Given the description of an element on the screen output the (x, y) to click on. 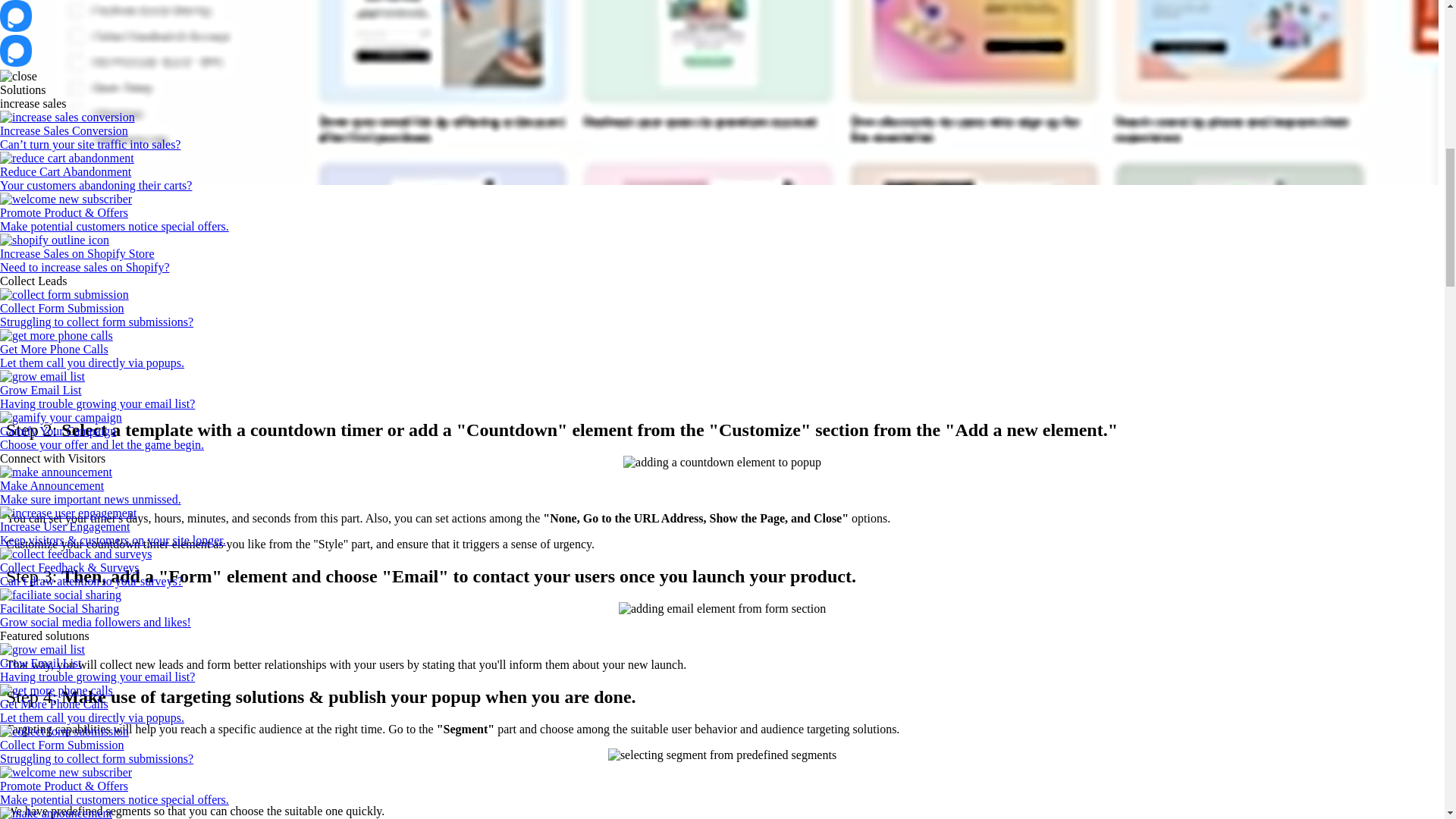
Sign In (17, 799)
Product Tour (31, 676)
Pricing (17, 785)
